Given the description of an element on the screen output the (x, y) to click on. 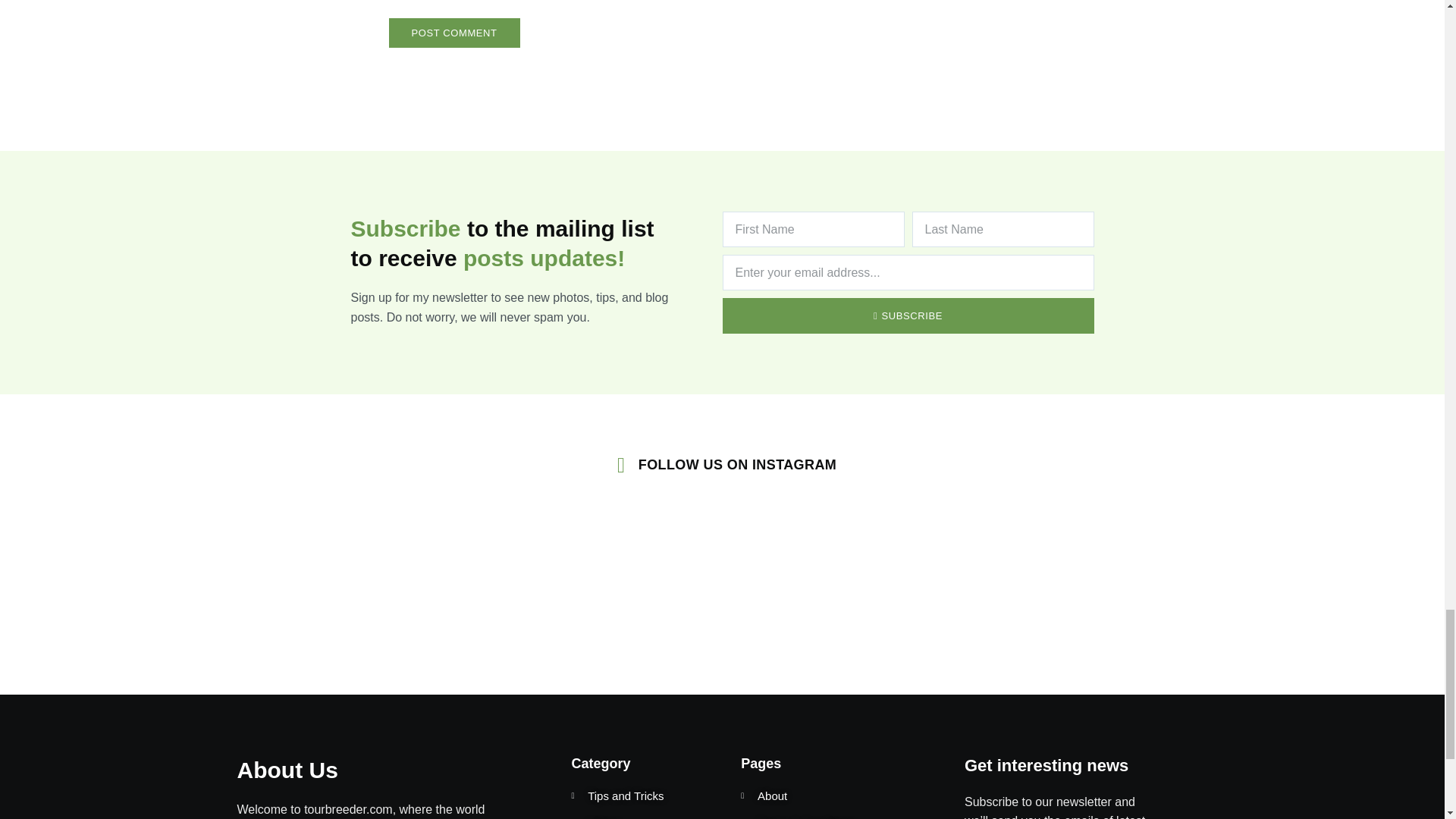
Post Comment (453, 32)
